Given the description of an element on the screen output the (x, y) to click on. 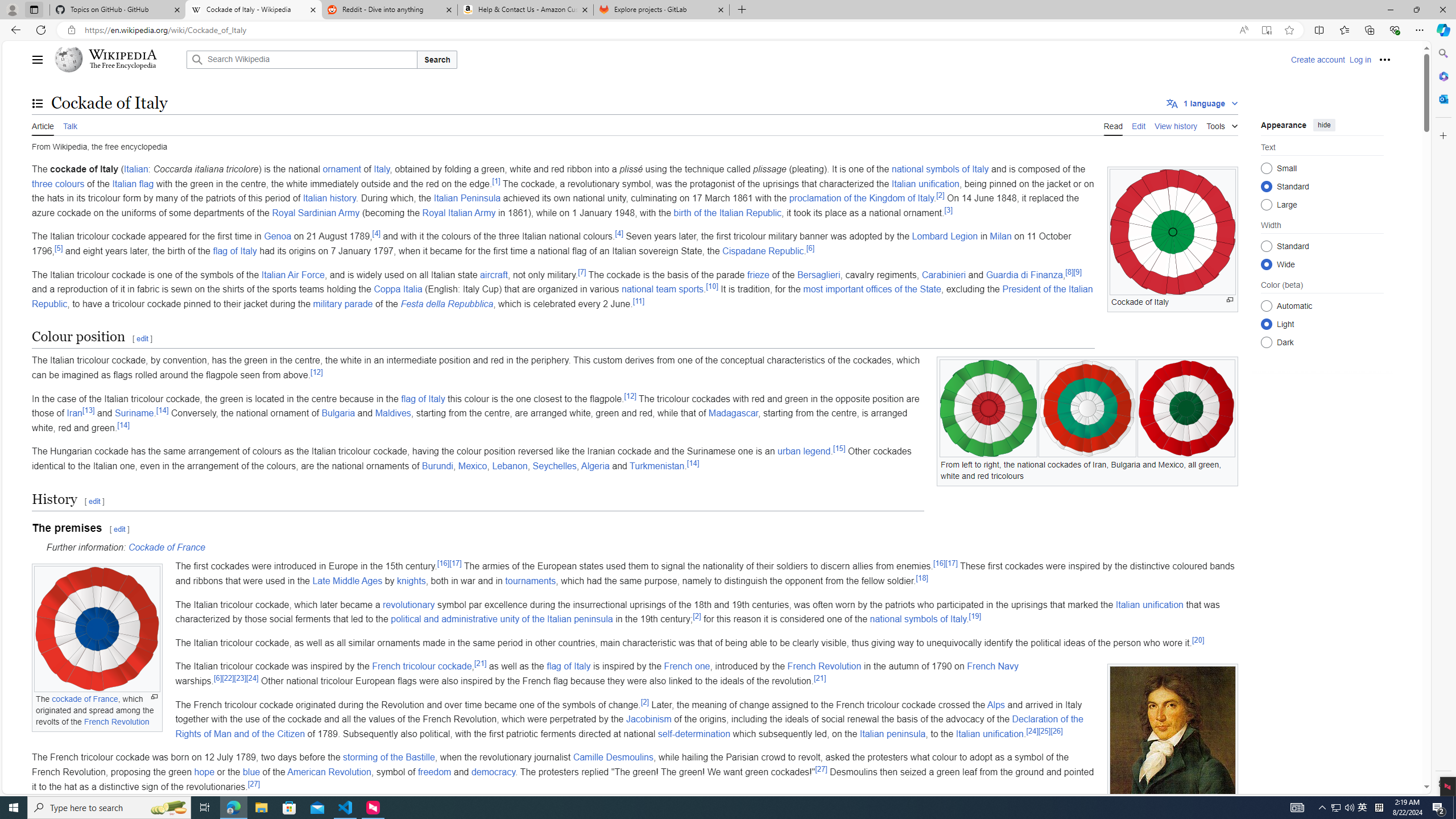
freedom (434, 771)
Light (1266, 323)
Talk (69, 124)
revolutionary (408, 604)
birth of the Italian Republic (726, 212)
[12] (630, 395)
Italian (135, 169)
Madagascar (732, 413)
self-determination (694, 733)
Split screen (1318, 29)
[27] (253, 782)
three colours (58, 183)
hide (1324, 124)
[25] (1044, 730)
